Given the description of an element on the screen output the (x, y) to click on. 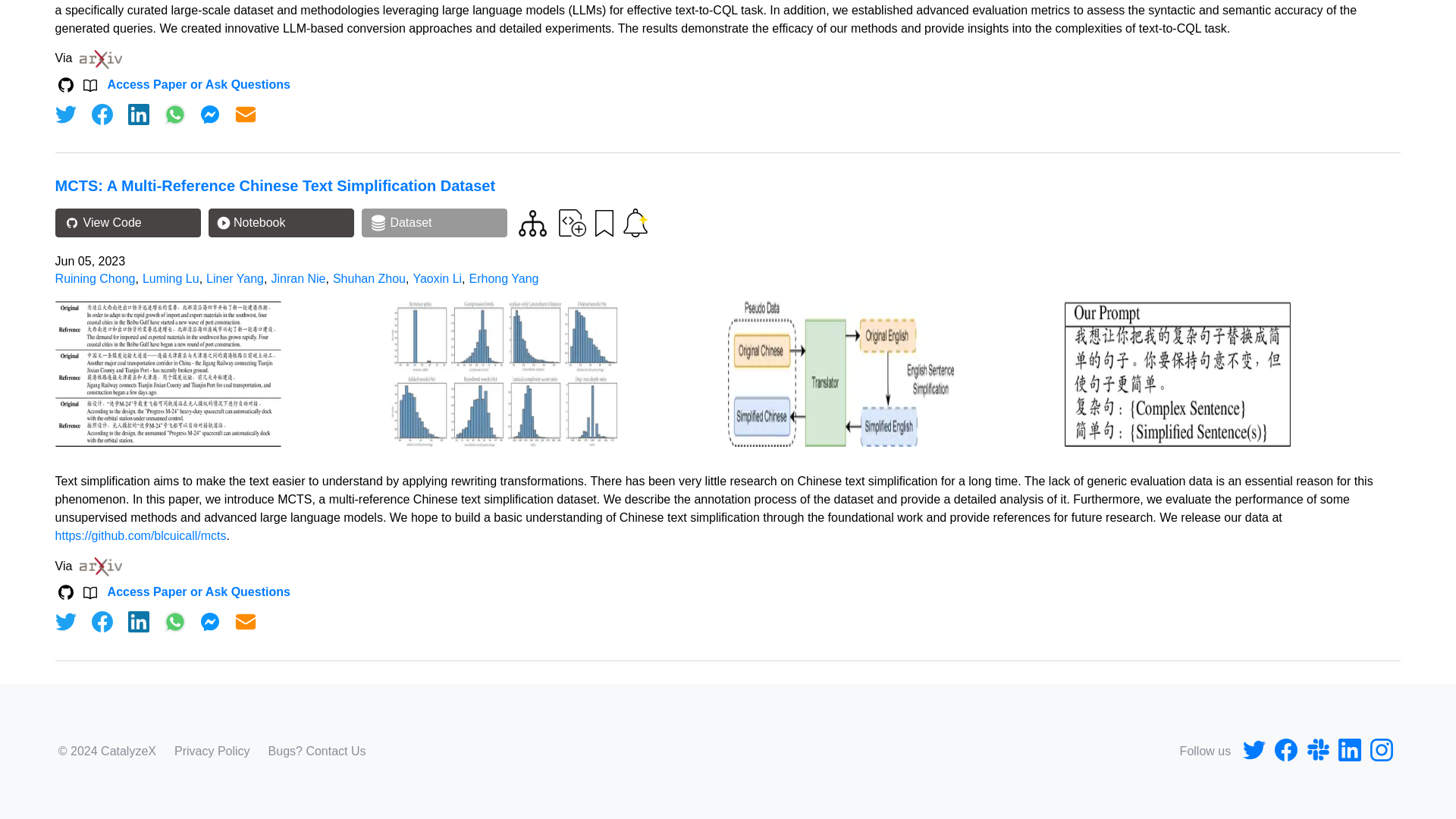
Dataset (433, 222)
Notebook (280, 222)
View code for similar papers (532, 222)
Contribute your code for this paper to the community (572, 222)
MCTS: A Multi-Reference Chinese Text Simplification Dataset (275, 185)
Access Paper or Ask Questions (198, 84)
Share via Email (245, 114)
Share via Email (245, 621)
View Code (127, 222)
